Given the description of an element on the screen output the (x, y) to click on. 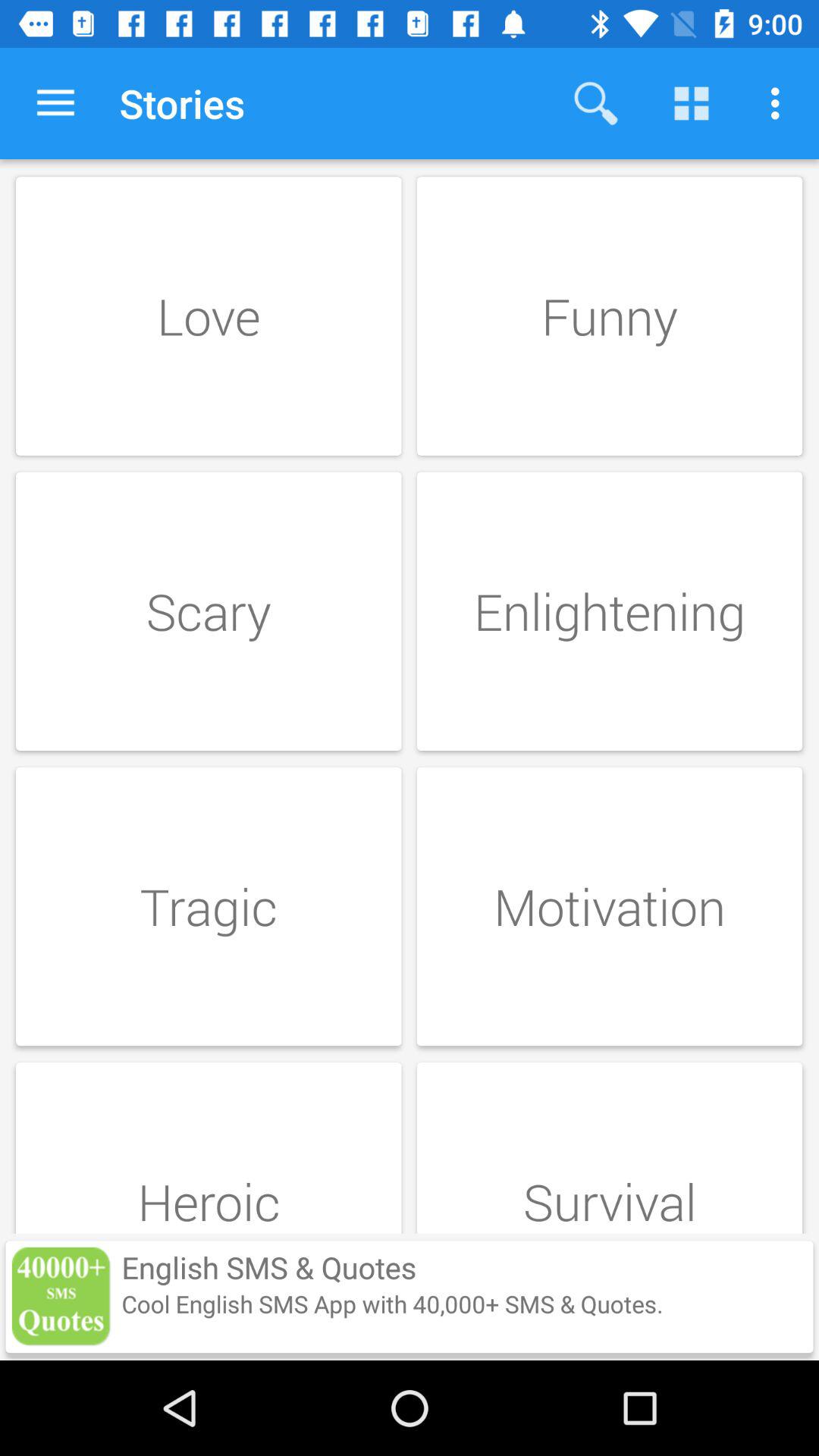
turn off the item above funny (595, 103)
